Given the description of an element on the screen output the (x, y) to click on. 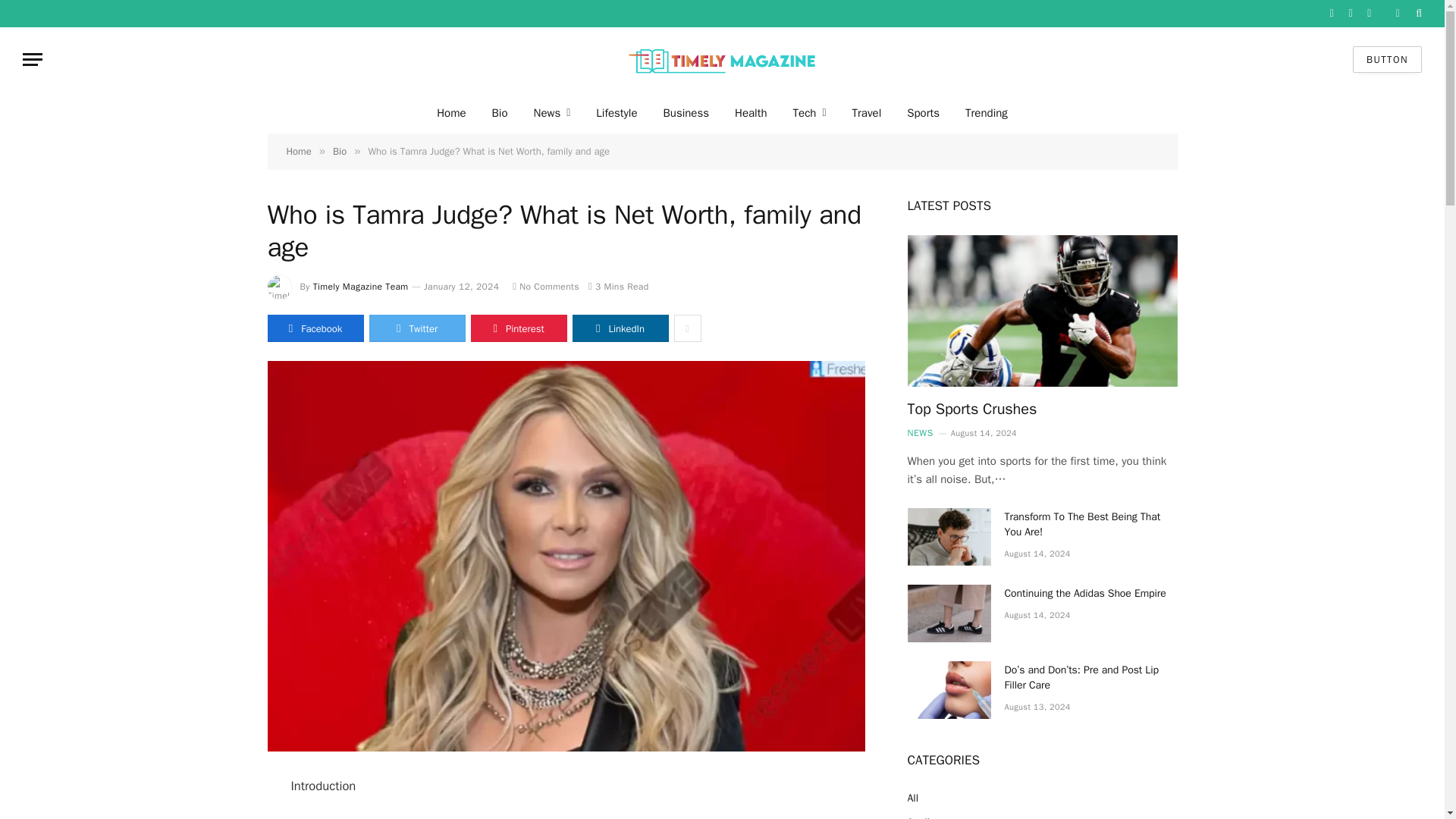
Bio (500, 112)
BUTTON (1387, 58)
Switch to Dark Design - easier on eyes. (1397, 13)
Bio (339, 151)
Lifestyle (616, 112)
No Comments (545, 286)
Share on Facebook (314, 328)
Home (298, 151)
Trending (986, 112)
Sports (922, 112)
